Given the description of an element on the screen output the (x, y) to click on. 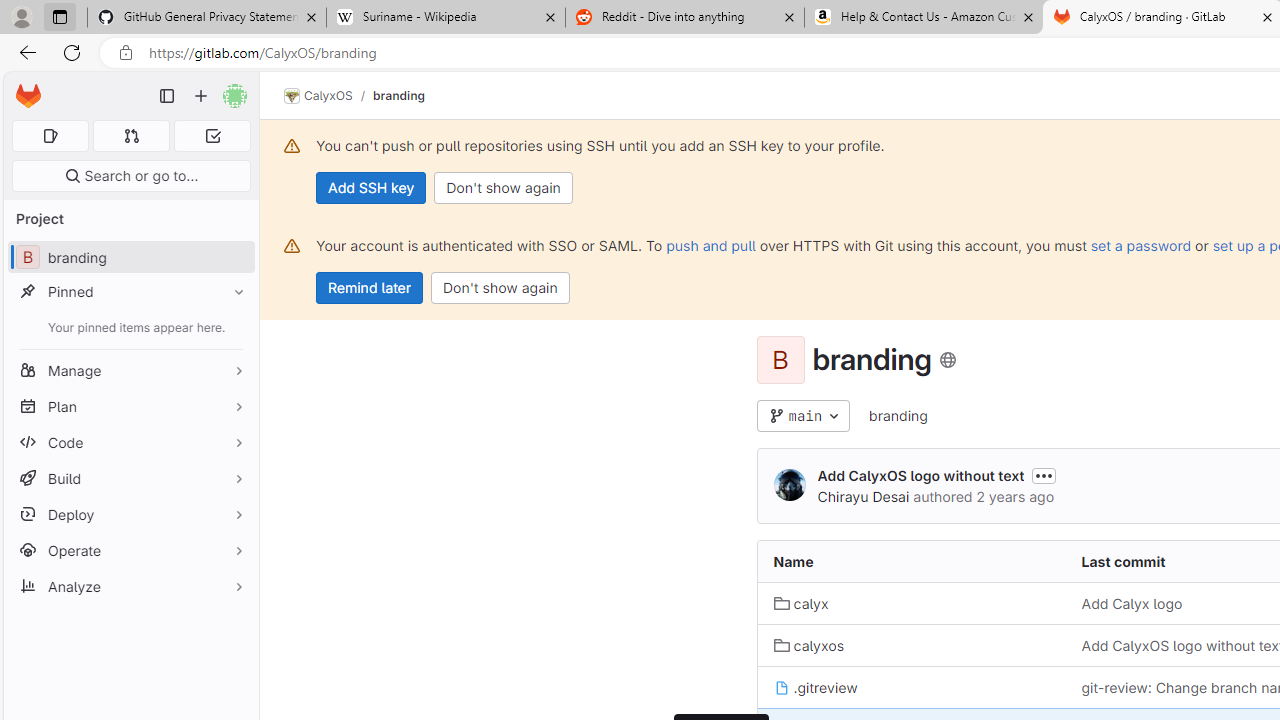
Toggle commit description (1044, 475)
Bbranding (130, 257)
Build (130, 478)
Class: s16 icon (947, 359)
GitHub General Privacy Statement - GitHub Docs (207, 17)
calyxos (808, 645)
Manage (130, 370)
Add Calyx logo (1131, 603)
set a password (1140, 245)
push and pull (710, 245)
Build (130, 478)
Class: s16 gl-alert-icon gl-alert-icon-no-title (291, 246)
Operate (130, 550)
